Given the description of an element on the screen output the (x, y) to click on. 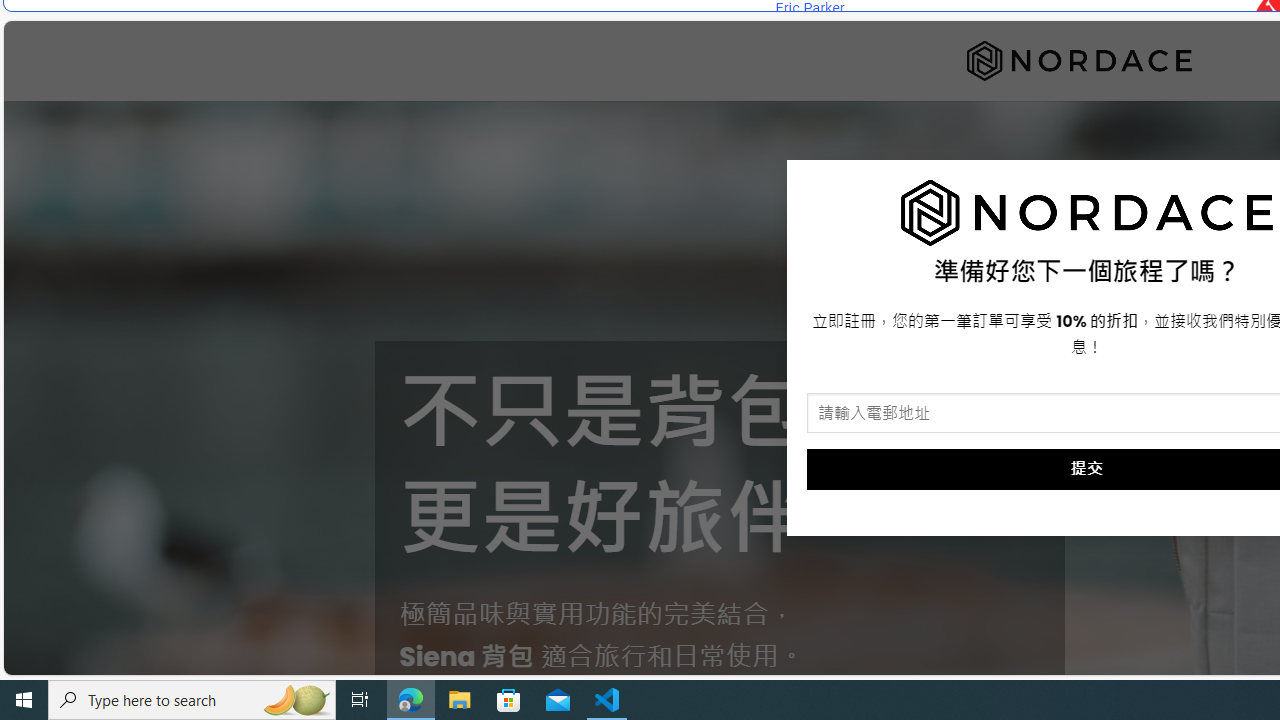
Eric Parker (809, 8)
